Given the description of an element on the screen output the (x, y) to click on. 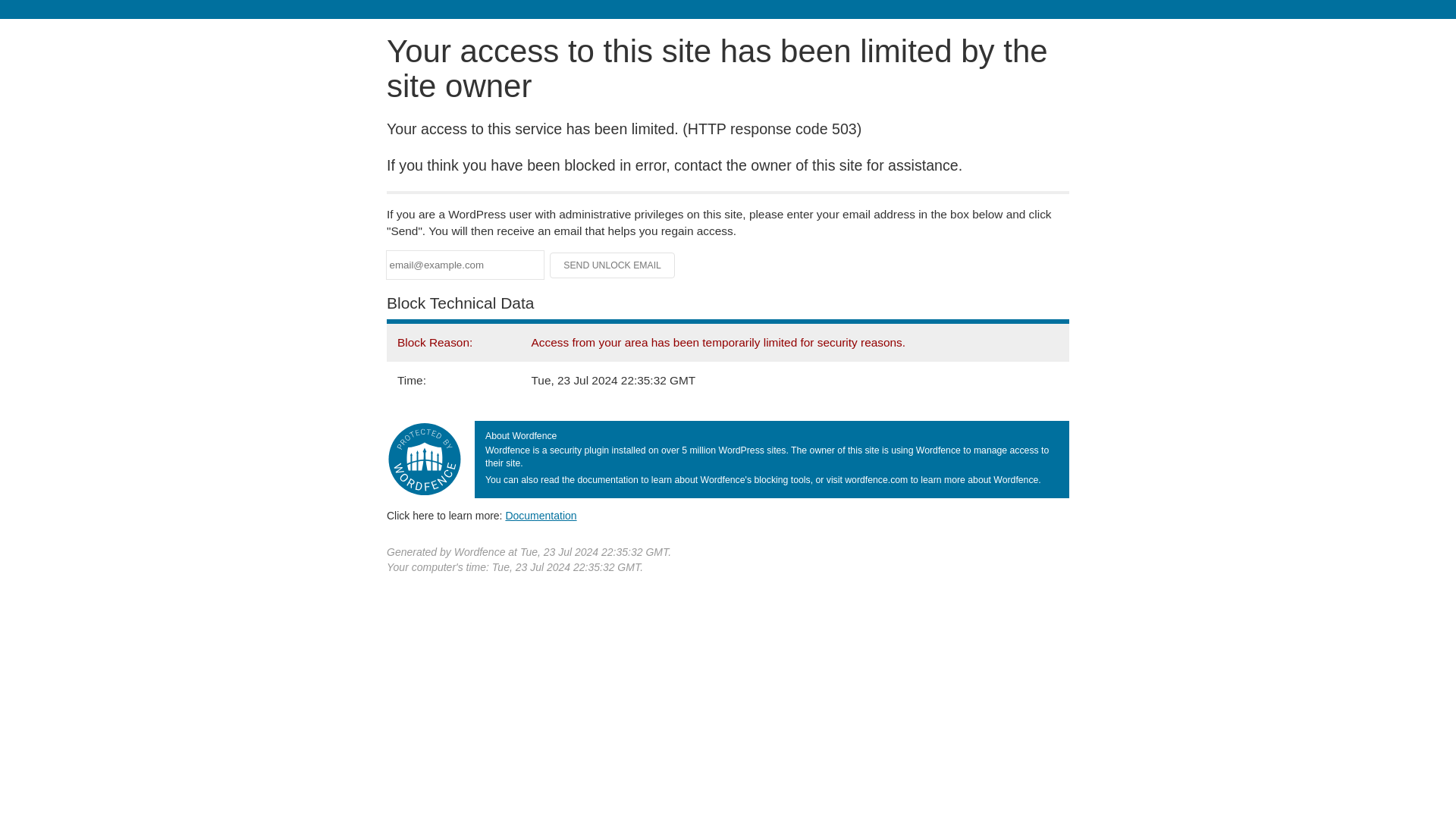
Send Unlock Email (612, 265)
Documentation (540, 515)
Send Unlock Email (612, 265)
